Given the description of an element on the screen output the (x, y) to click on. 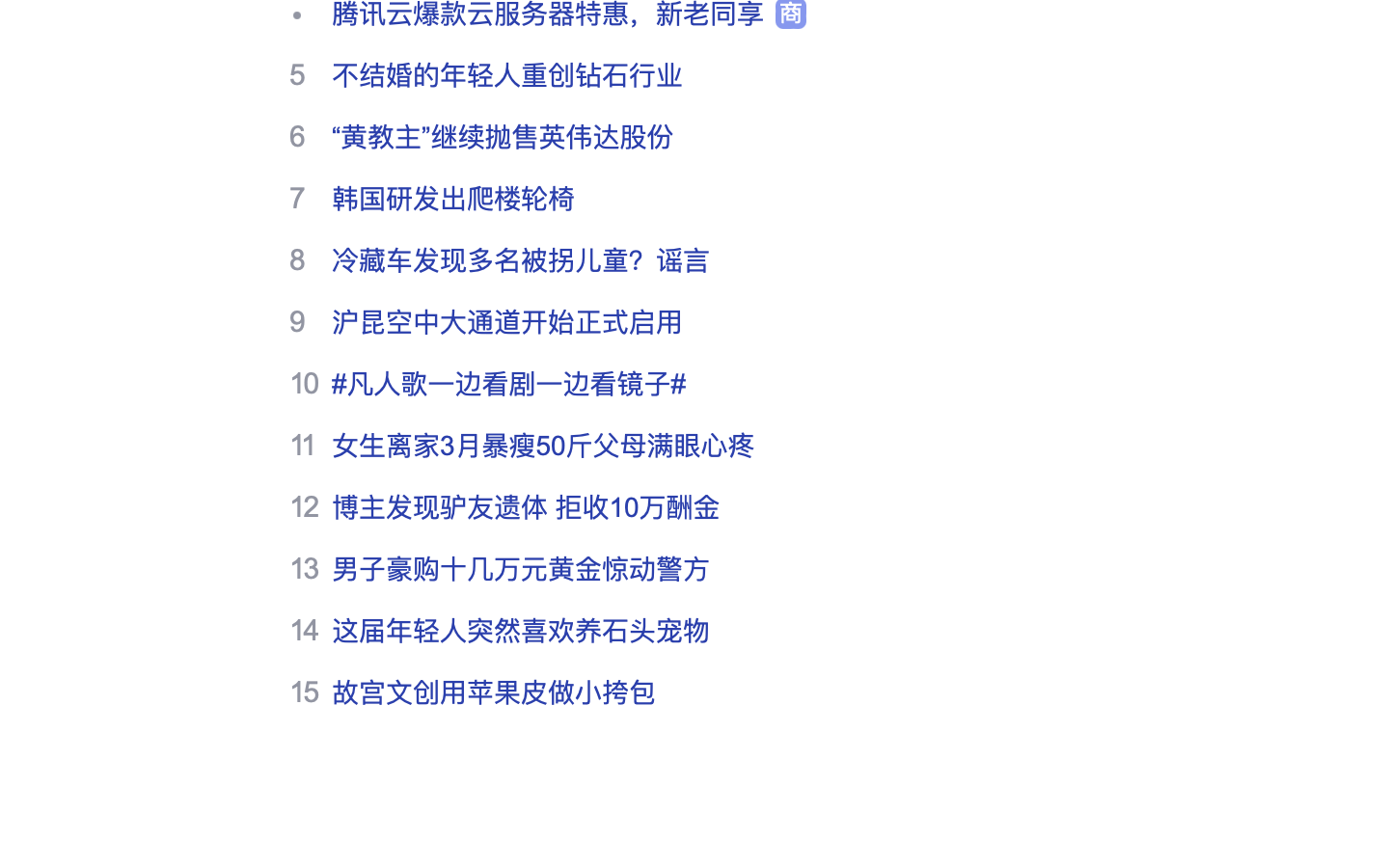
故宫文创用苹果皮做小挎包 Element type: AXStaticText (493, 692)
“黄教主”继续抛售英伟达股份 Element type: AXStaticText (503, 136)
男子豪购十几万元黄金惊动警方 Element type: AXStaticText (520, 568)
12 Element type: AXStaticText (303, 505)
7 Element type: AXStaticText (296, 197)
